Given the description of an element on the screen output the (x, y) to click on. 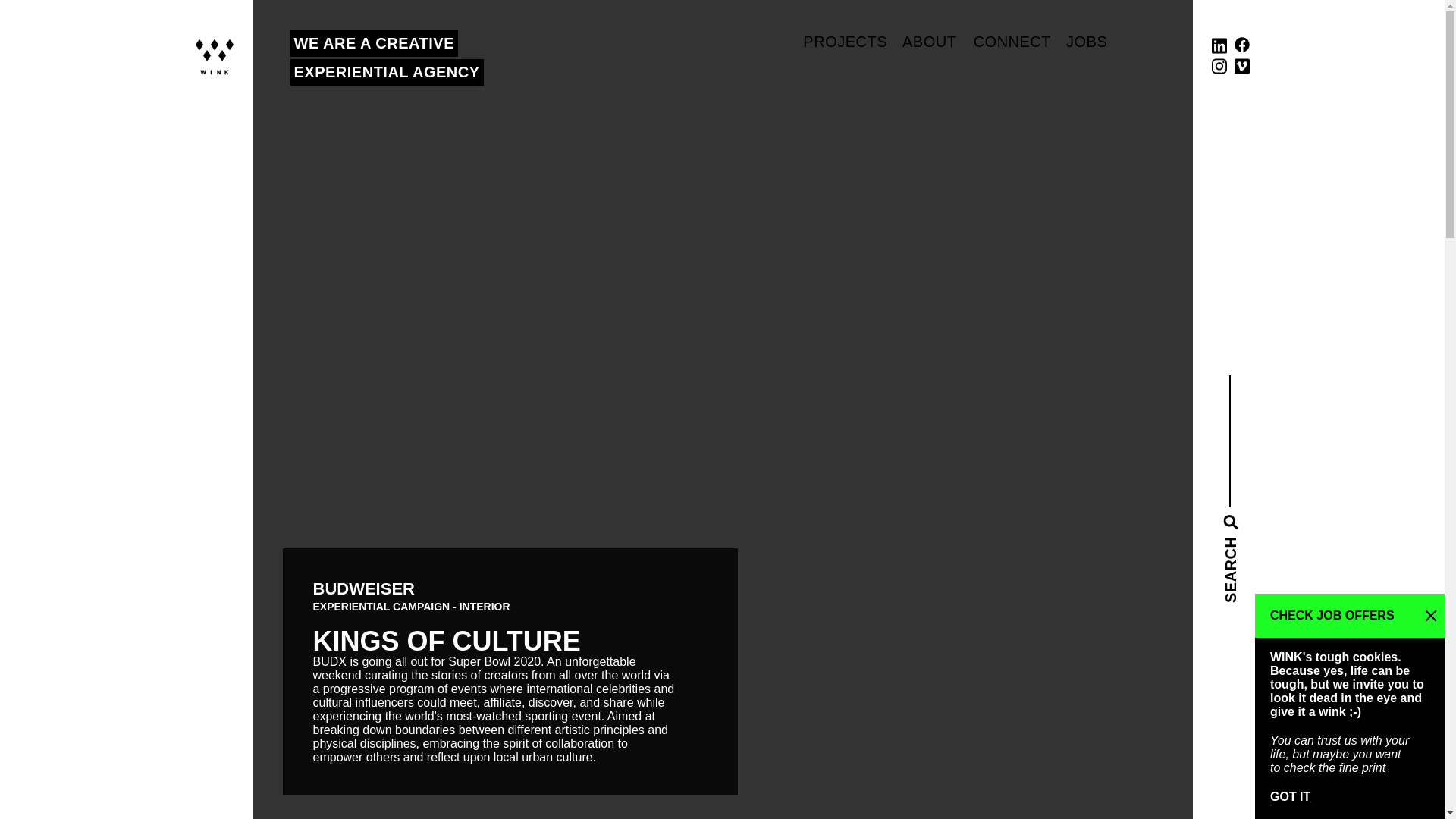
ABOUT (930, 41)
CONNECT (1012, 41)
about (930, 41)
jobs (1086, 41)
work (844, 41)
PROJECTS (844, 41)
JOBS (1086, 41)
connect (386, 57)
